Given the description of an element on the screen output the (x, y) to click on. 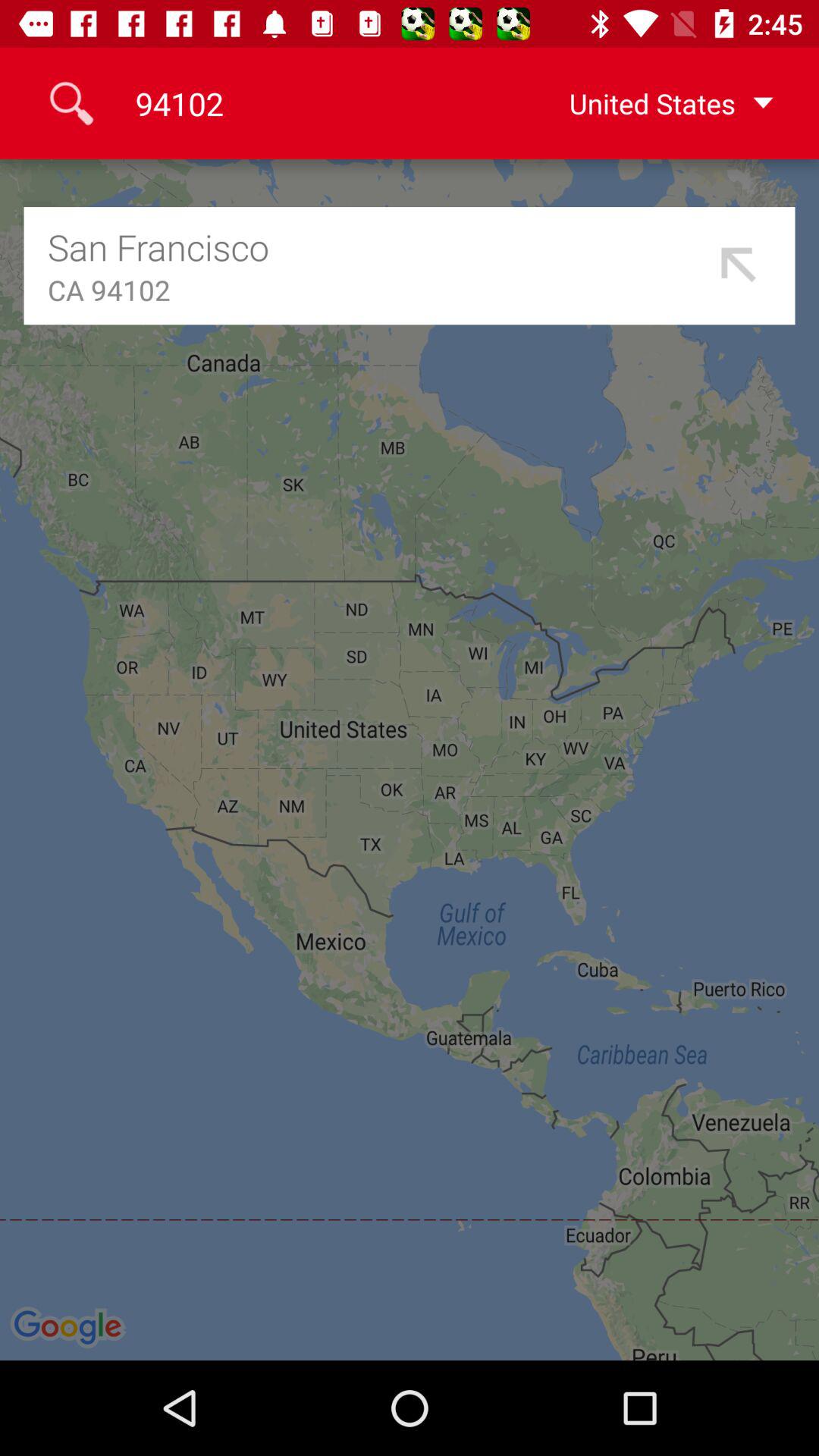
jump until san francisco (377, 246)
